Given the description of an element on the screen output the (x, y) to click on. 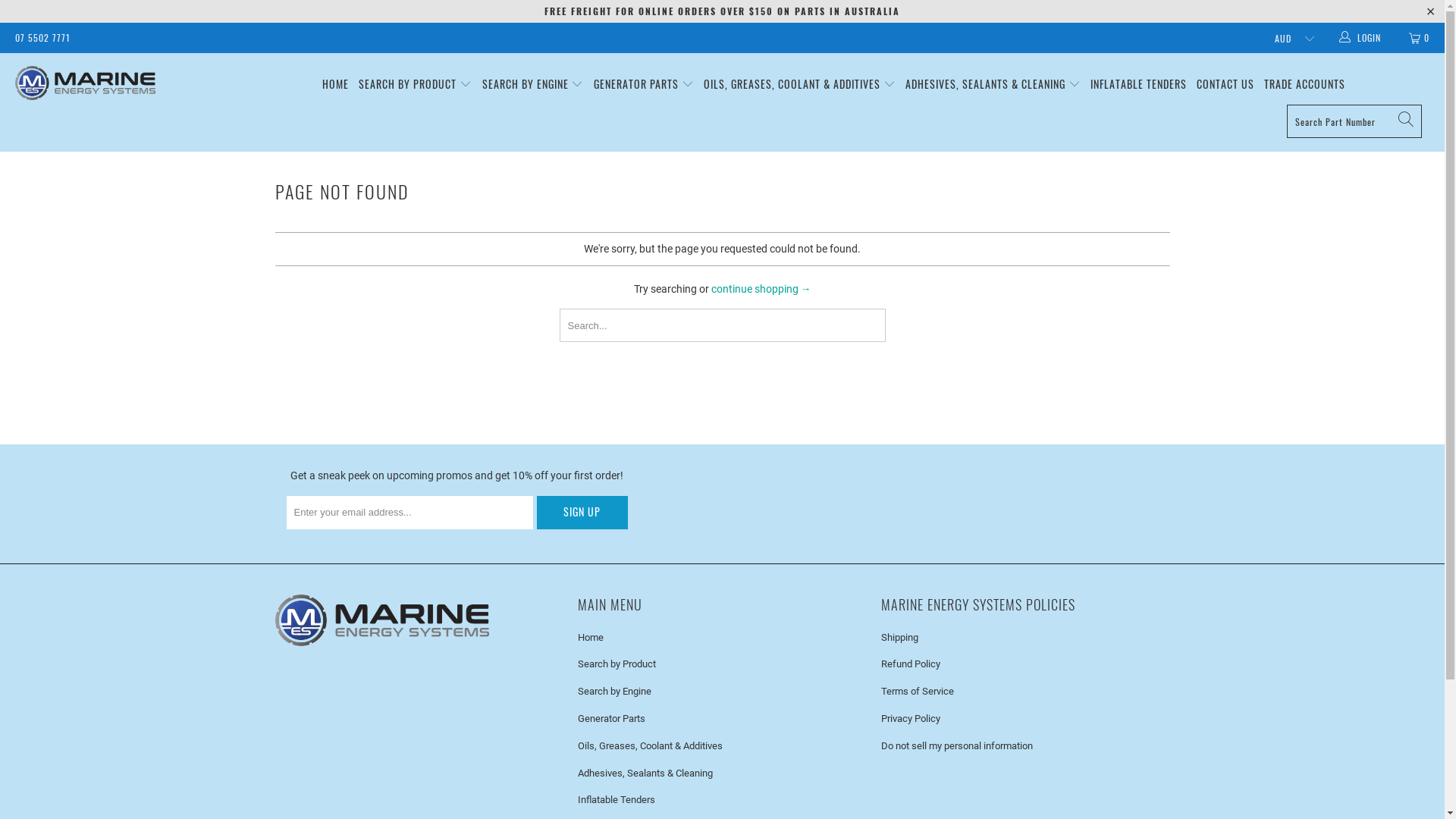
Inflatable Tenders Element type: text (616, 799)
SEARCH BY ENGINE Element type: text (532, 84)
INFLATABLE TENDERS Element type: text (1138, 84)
CONTACT US Element type: text (1225, 84)
Marine Energy Systems Element type: hover (123, 82)
Generator Parts Element type: text (611, 718)
Privacy Policy Element type: text (910, 718)
Search by Product Element type: text (616, 663)
Oils, Greases, Coolant & Additives Element type: text (649, 745)
HOME Element type: text (335, 84)
LOGIN Element type: text (1360, 37)
GENERATOR PARTS Element type: text (643, 84)
TRADE ACCOUNTS Element type: text (1304, 84)
Search by Engine Element type: text (614, 690)
Refund Policy Element type: text (910, 663)
Adhesives, Sealants & Cleaning Element type: text (644, 772)
0 Element type: text (1420, 37)
ADHESIVES, SEALANTS & CLEANING Element type: text (992, 84)
Sign Up Element type: text (581, 512)
Shipping Element type: text (899, 637)
Terms of Service Element type: text (917, 690)
07 5502 7771 Element type: text (42, 37)
OILS, GREASES, COOLANT & ADDITIVES Element type: text (799, 84)
Do not sell my personal information Element type: text (956, 745)
SEARCH BY PRODUCT Element type: text (414, 84)
Home Element type: text (590, 637)
